Given the description of an element on the screen output the (x, y) to click on. 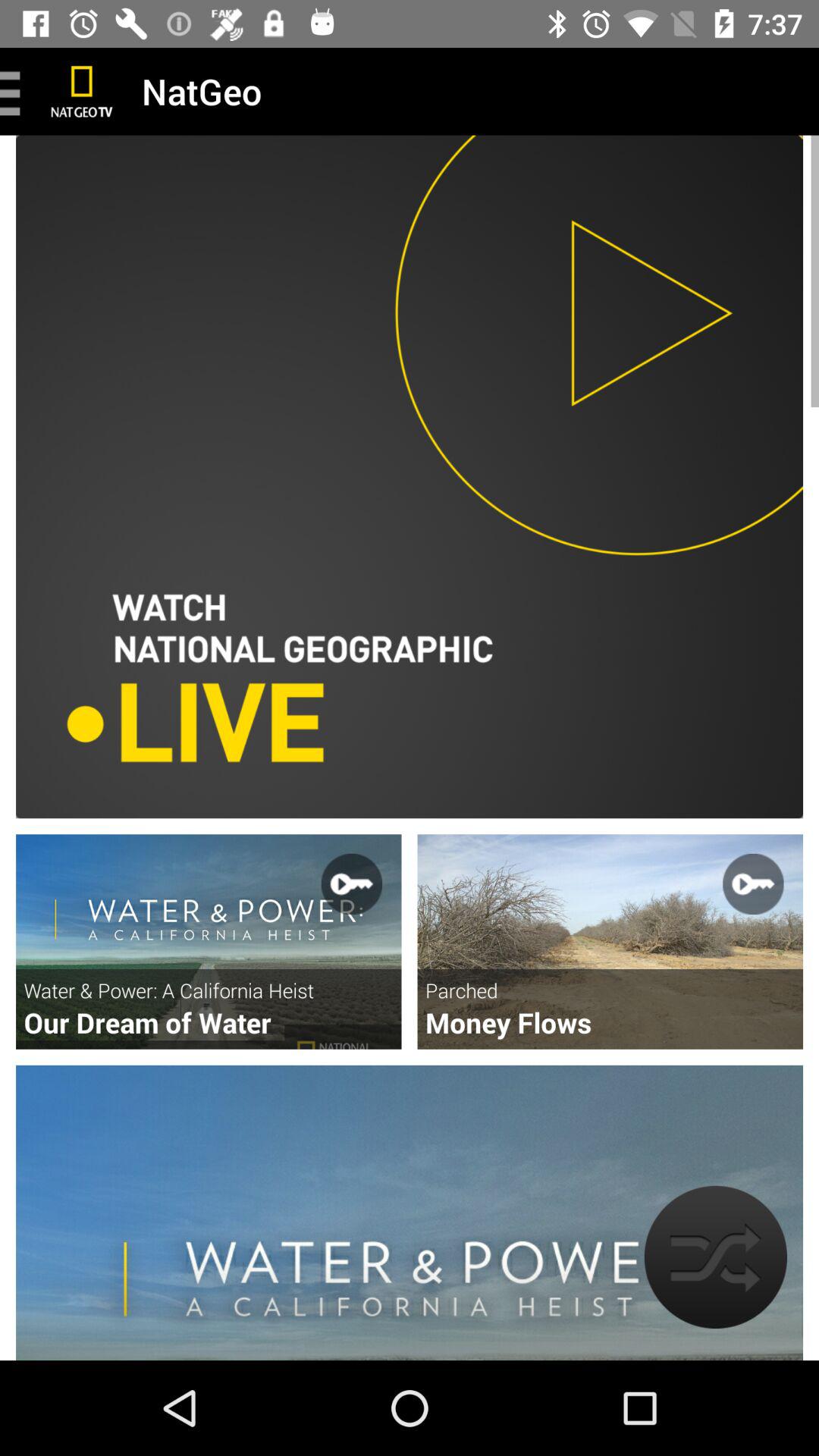
advertisement (610, 941)
